Given the description of an element on the screen output the (x, y) to click on. 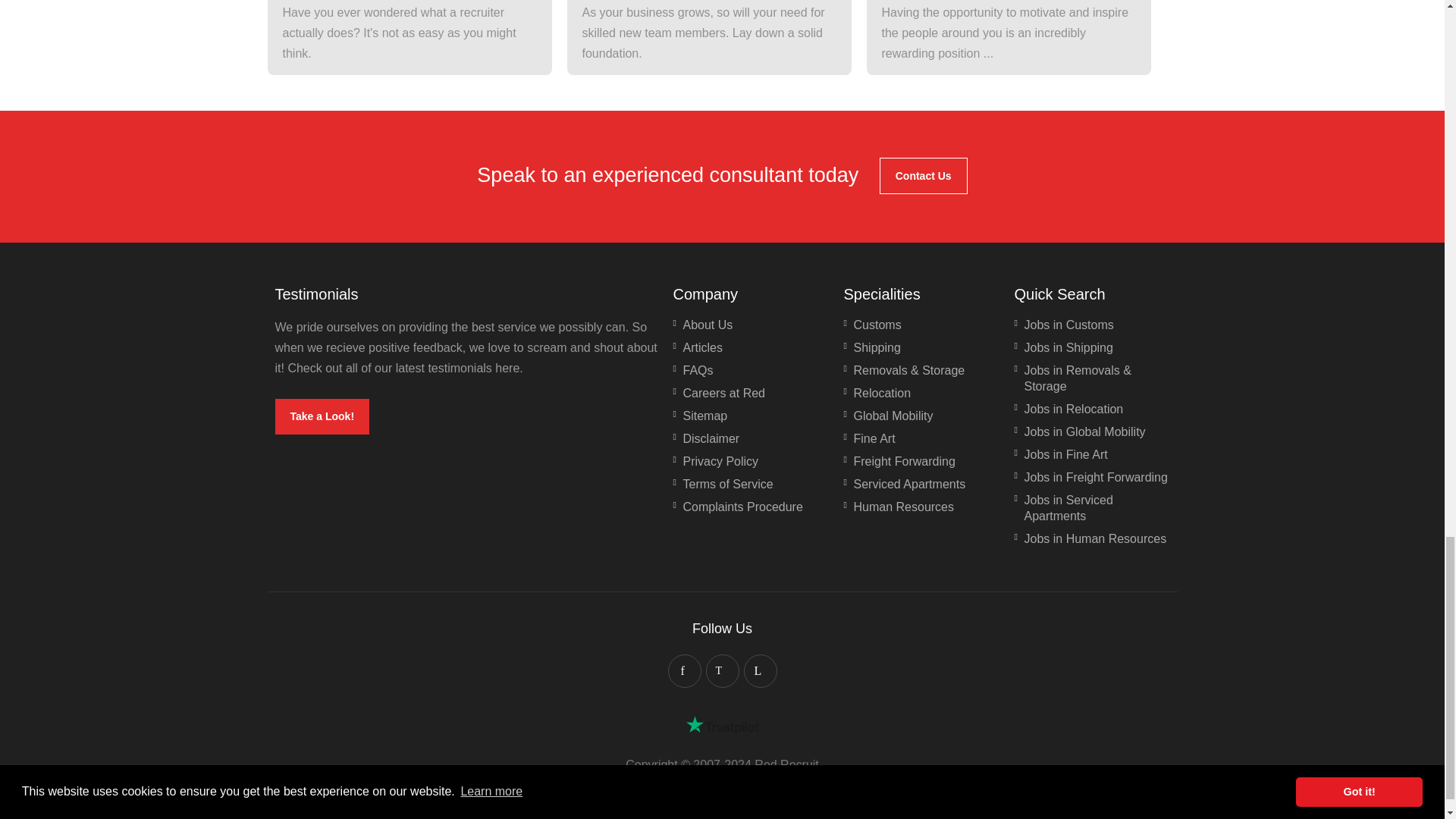
Customer reviews powered by Trustpilot (722, 724)
